Given the description of an element on the screen output the (x, y) to click on. 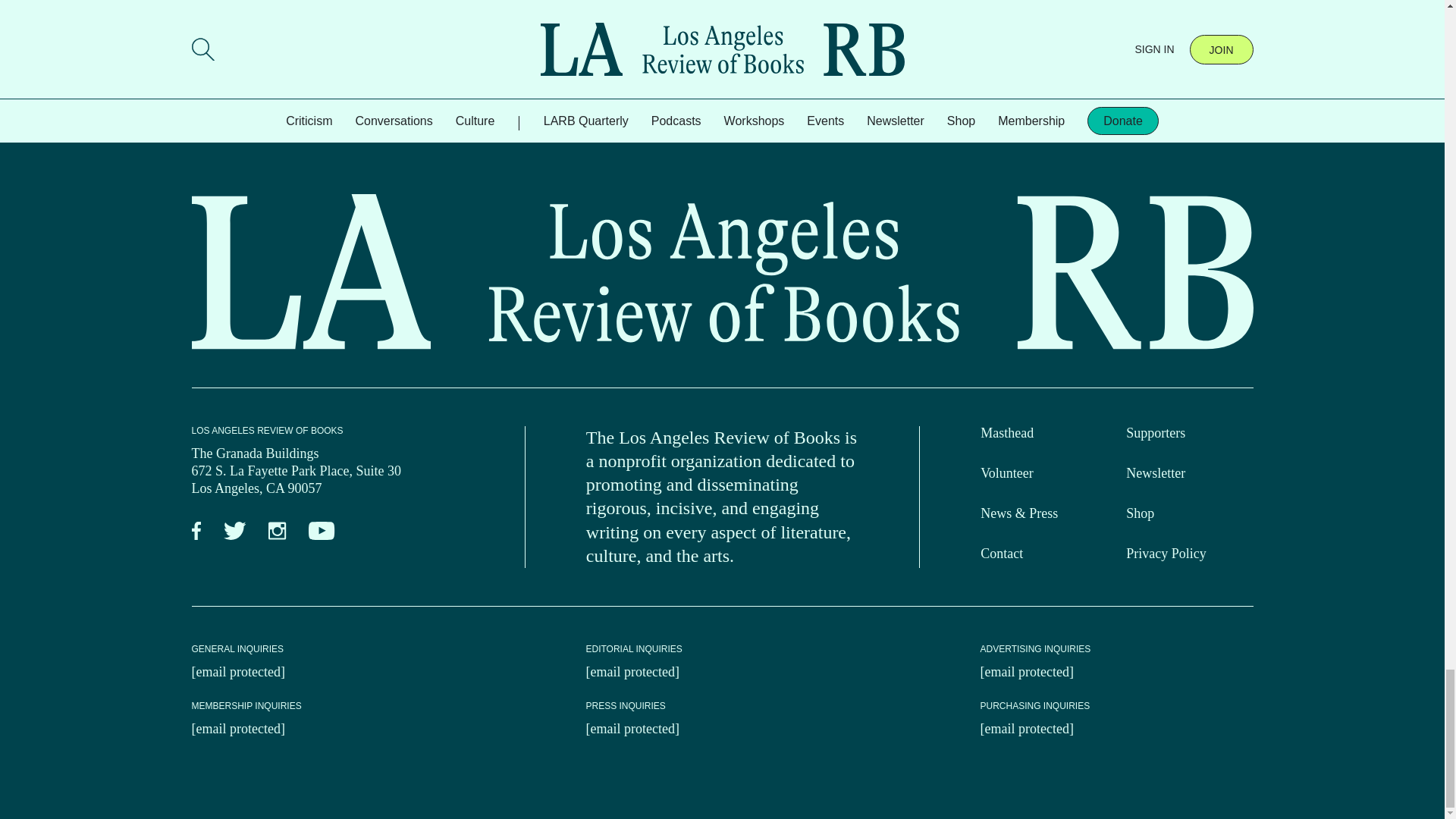
DONATE (321, 26)
YouTube (321, 531)
Facebook (195, 531)
Instagram (276, 531)
Twitter (234, 531)
